Given the description of an element on the screen output the (x, y) to click on. 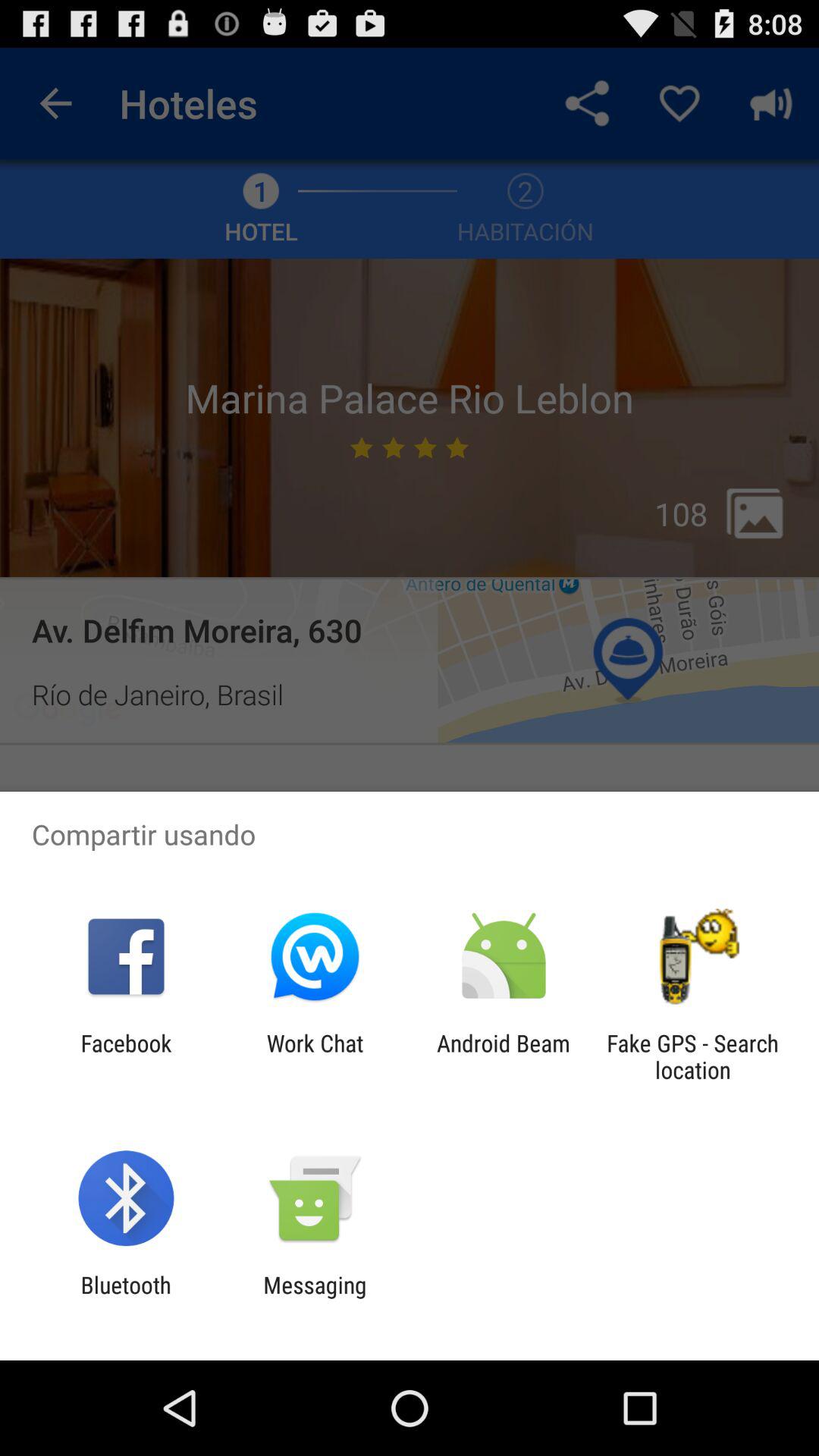
scroll to the work chat app (314, 1056)
